Given the description of an element on the screen output the (x, y) to click on. 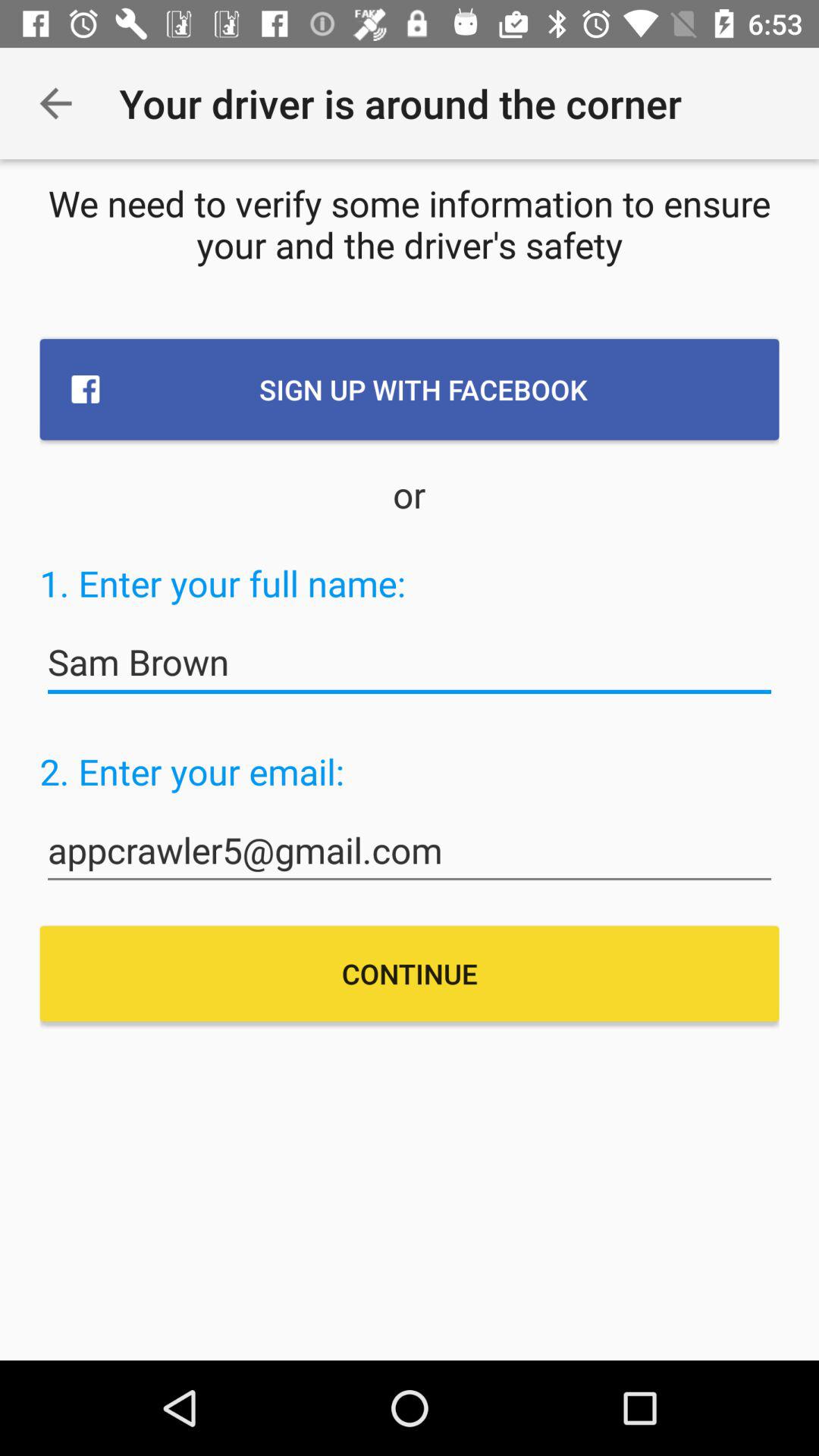
press the item below the 2 enter your (409, 850)
